Given the description of an element on the screen output the (x, y) to click on. 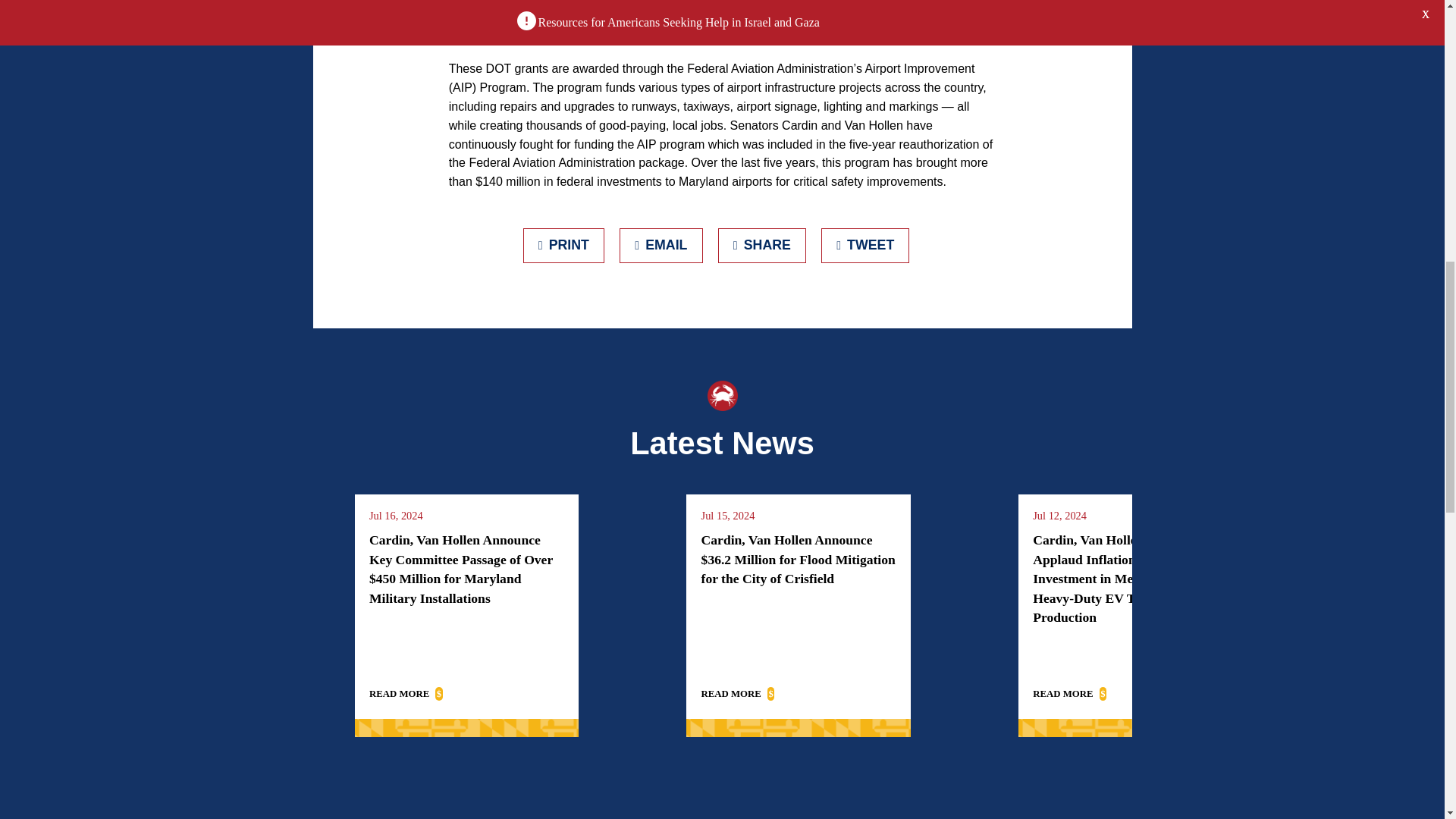
Crab (721, 395)
Tweet (865, 245)
Print (563, 245)
Share on Facebook (761, 245)
Email (661, 245)
